Given the description of an element on the screen output the (x, y) to click on. 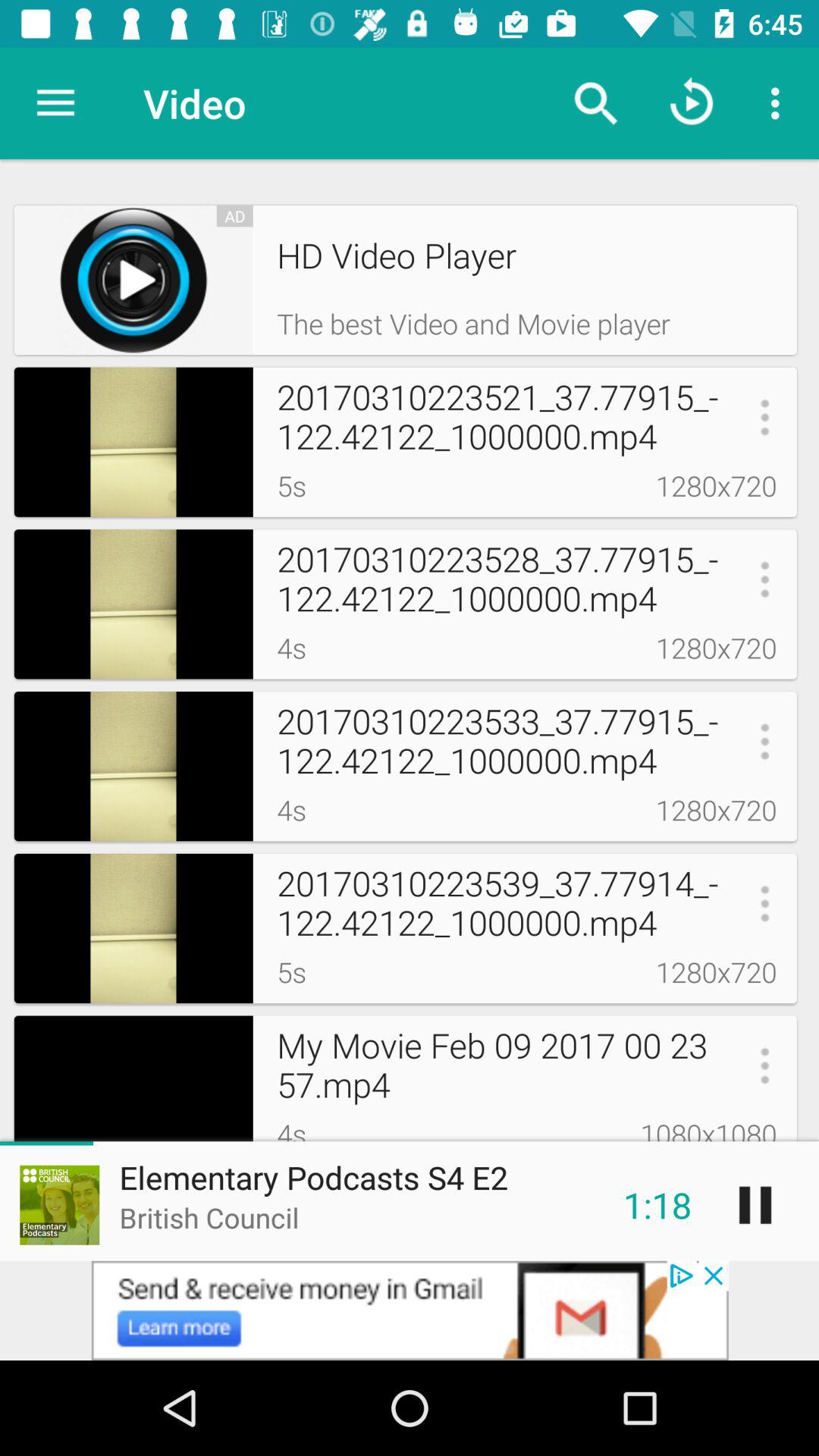
advertisement (409, 1310)
